Given the description of an element on the screen output the (x, y) to click on. 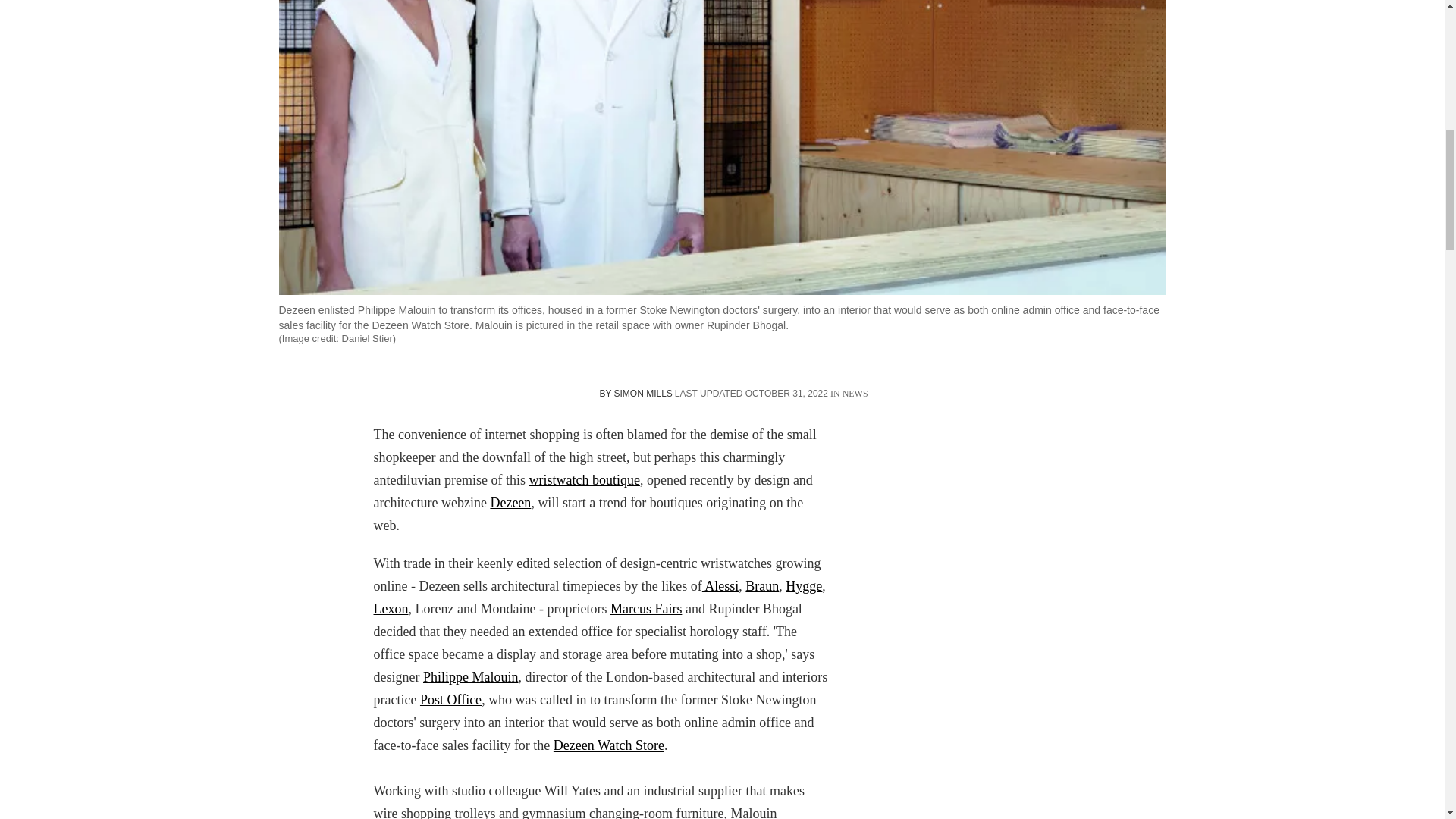
Philippe Malouin (470, 676)
Hygge (804, 585)
Post Office (450, 699)
Marcus Fairs (645, 608)
SIMON MILLS (643, 393)
Lexon (389, 608)
Alessi (720, 585)
Dezeen (510, 502)
Braun (761, 585)
wristwatch boutique (583, 479)
NEWS (855, 393)
